Given the description of an element on the screen output the (x, y) to click on. 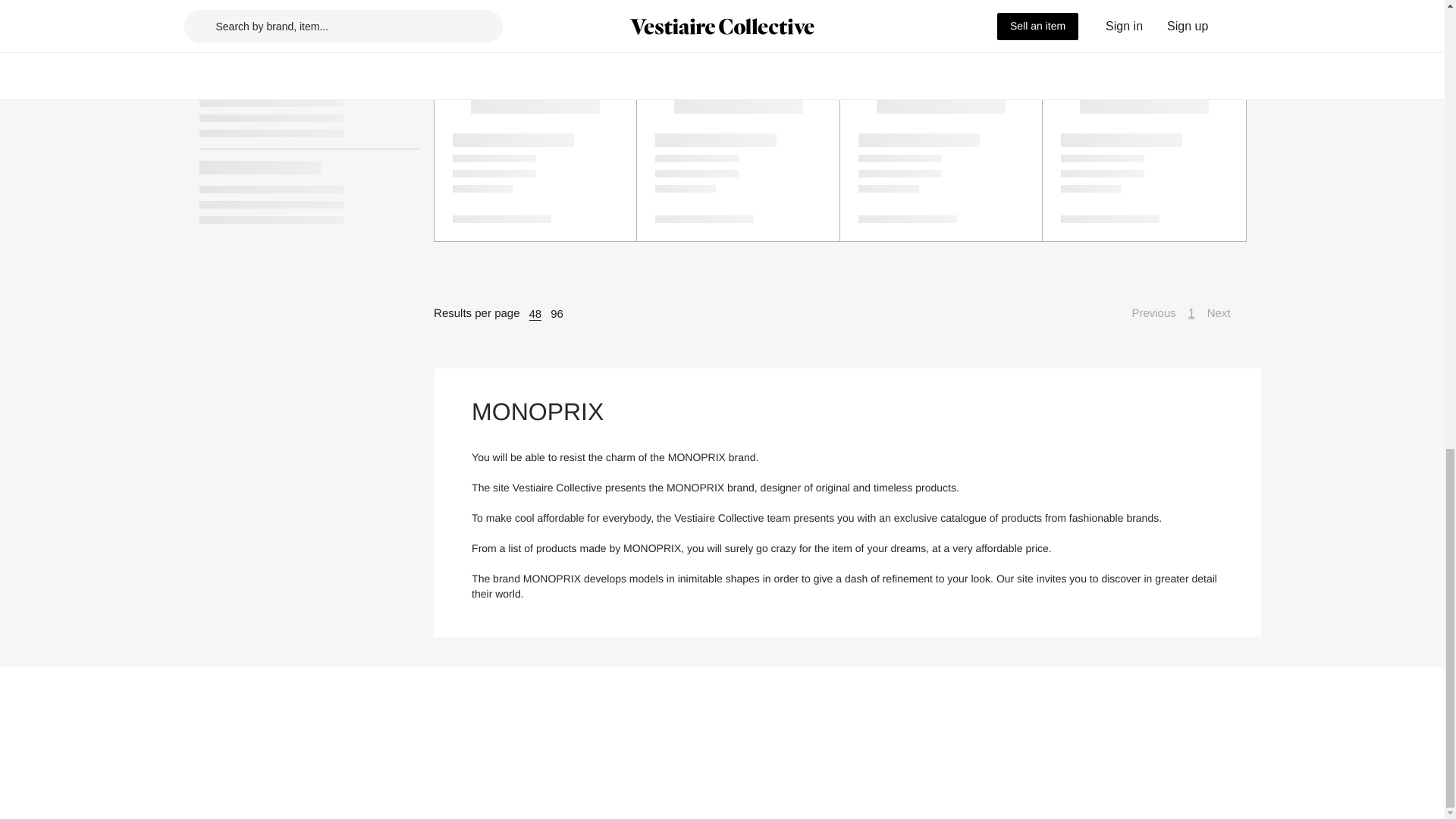
48 (535, 314)
Previous (1145, 313)
Next (1226, 313)
96 (556, 314)
